Given the description of an element on the screen output the (x, y) to click on. 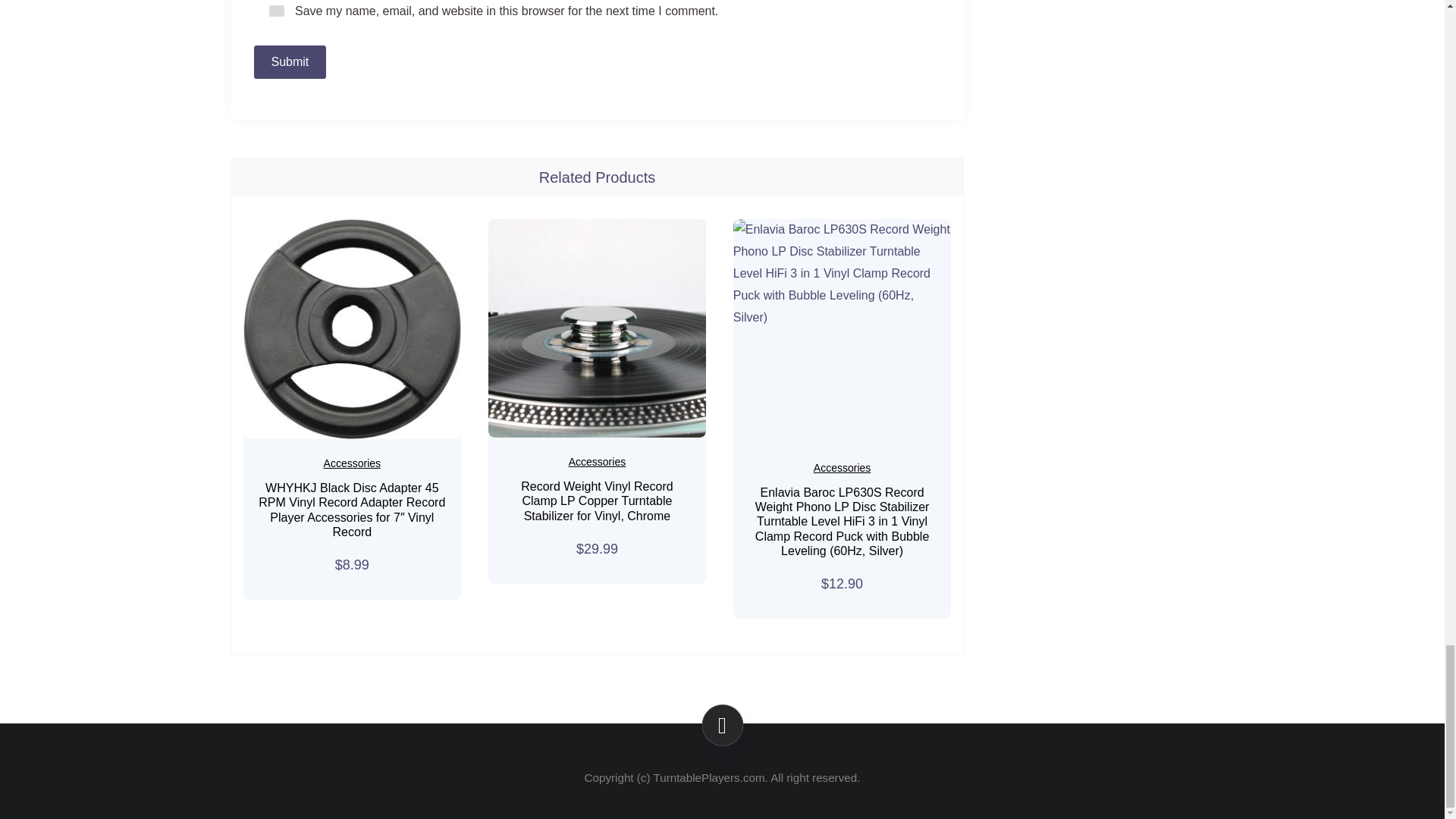
Accessories (351, 463)
Submit (289, 61)
Accessories (597, 461)
Submit (289, 61)
yes (275, 10)
Accessories (841, 467)
